Given the description of an element on the screen output the (x, y) to click on. 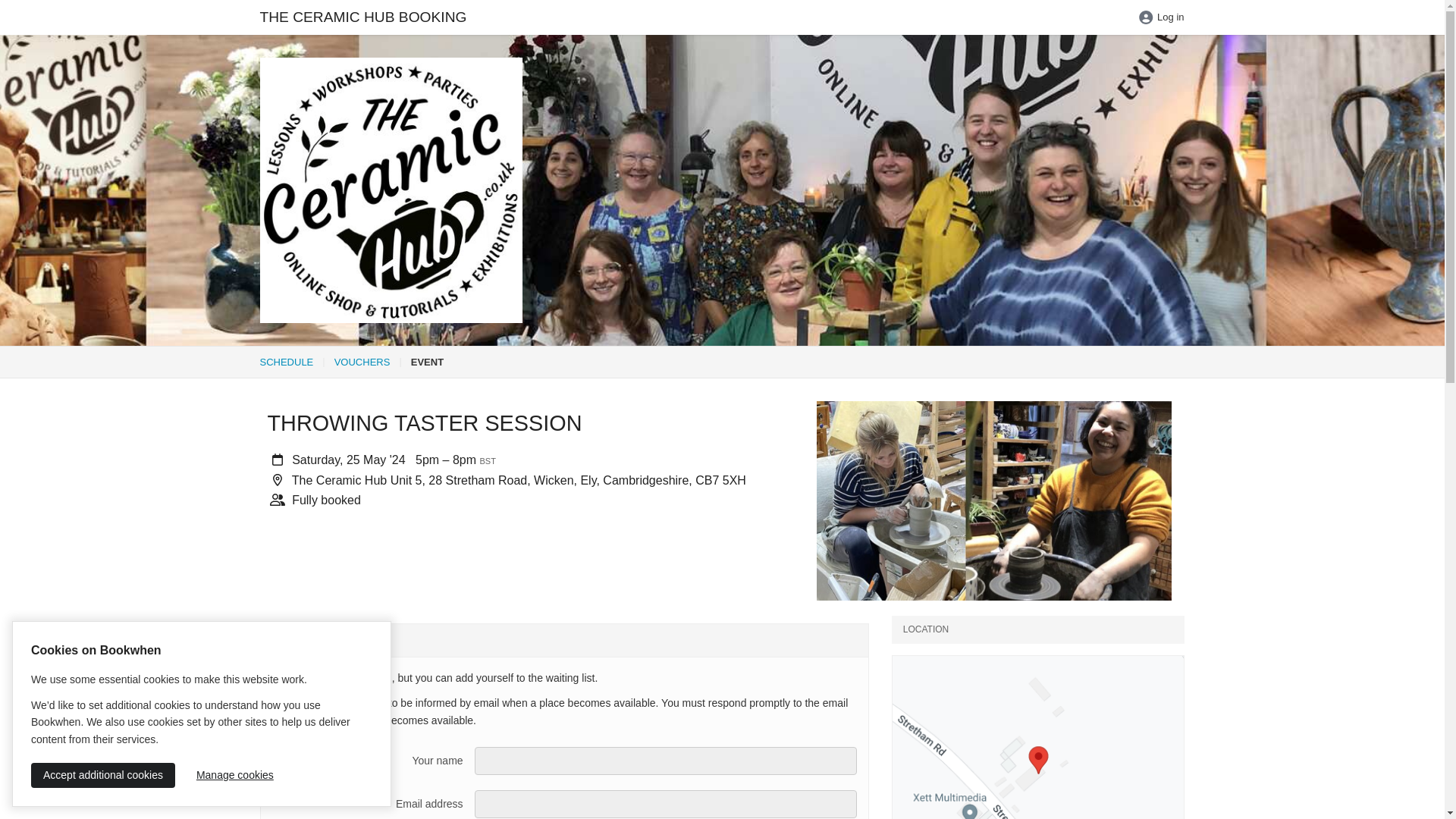
Accept additional cookies (102, 774)
Manage cookies (234, 774)
Log in (1160, 17)
SCHEDULE (286, 361)
VOUCHERS (362, 361)
THE CERAMIC HUB BOOKING (363, 17)
EVENT (427, 361)
